Given the description of an element on the screen output the (x, y) to click on. 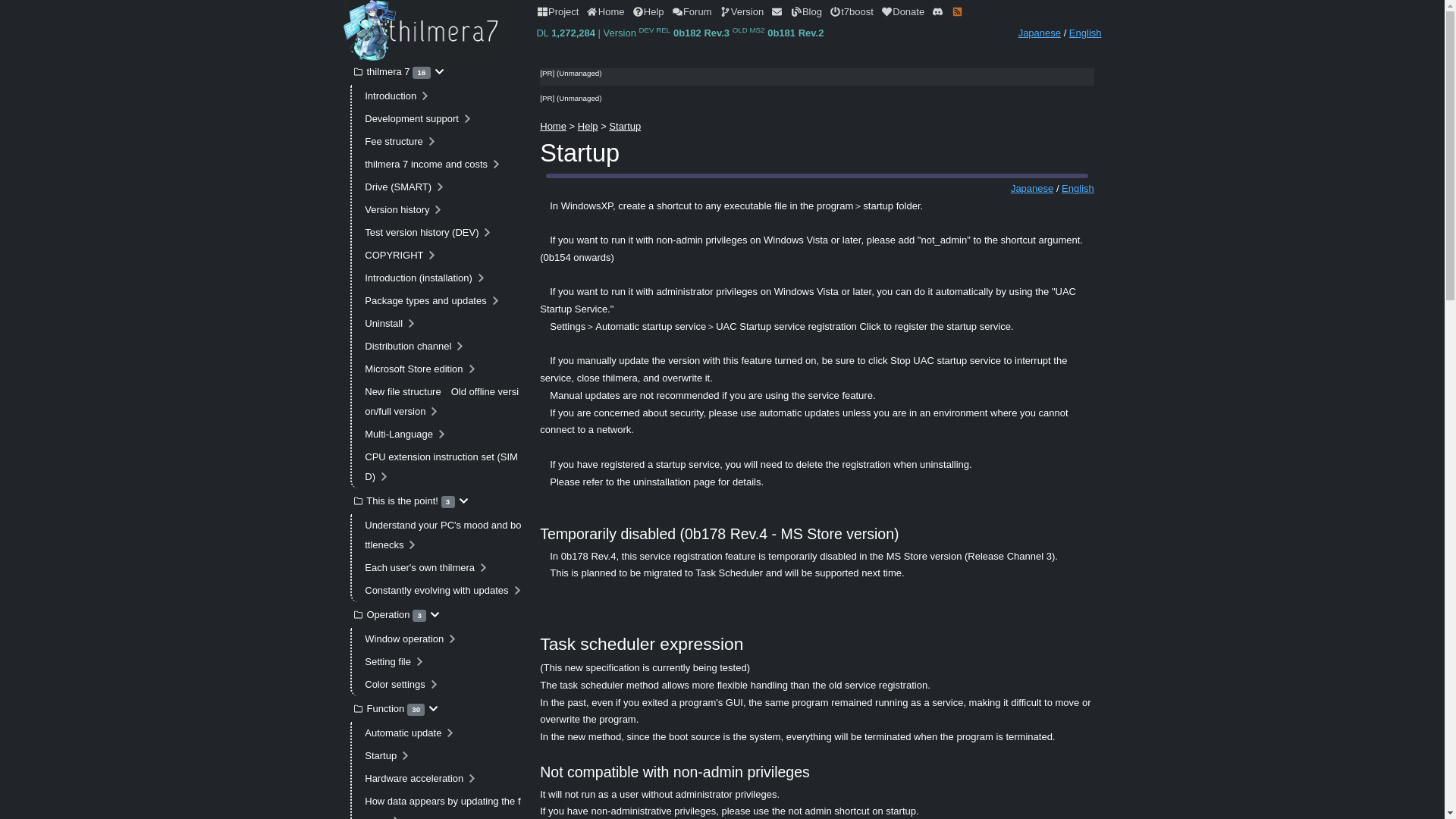
Window operation (443, 639)
thilmera 7 income and costs (443, 164)
Home (605, 12)
Version history (443, 210)
Project (556, 12)
Uninstall (443, 323)
thilmera 7 16 (437, 71)
Japanese (1039, 32)
t7boost (851, 12)
English (1085, 32)
